Given the description of an element on the screen output the (x, y) to click on. 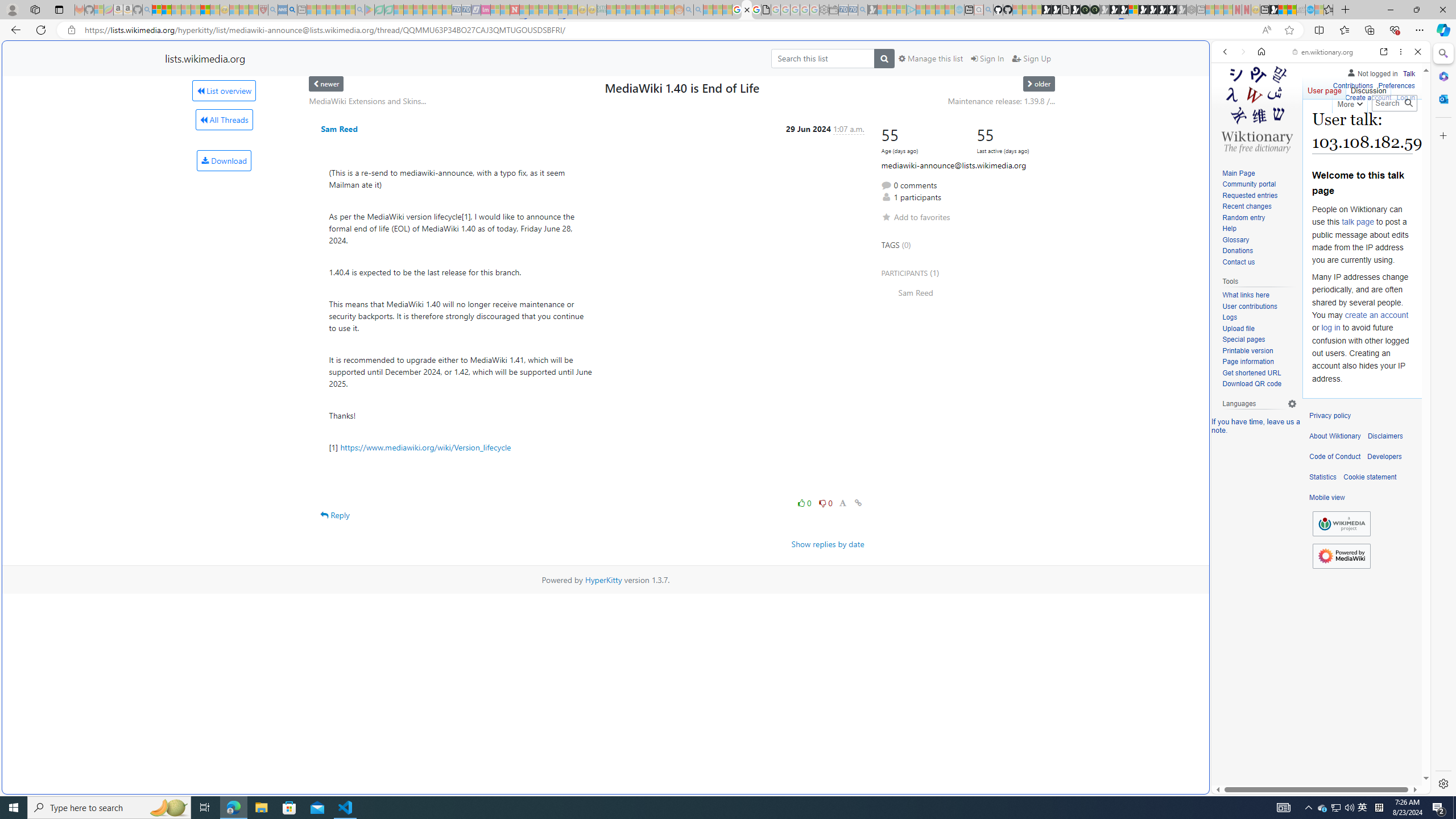
Cookie statement (1369, 477)
Help (1228, 228)
Play Zoo Boom in your browser | Games from Microsoft Start (1055, 9)
More (1349, 101)
Actions for this site (1370, 583)
Download QR code (1251, 384)
Printable version (1259, 351)
Play Free Online Games | Games from Microsoft Start (1151, 9)
